Given the description of an element on the screen output the (x, y) to click on. 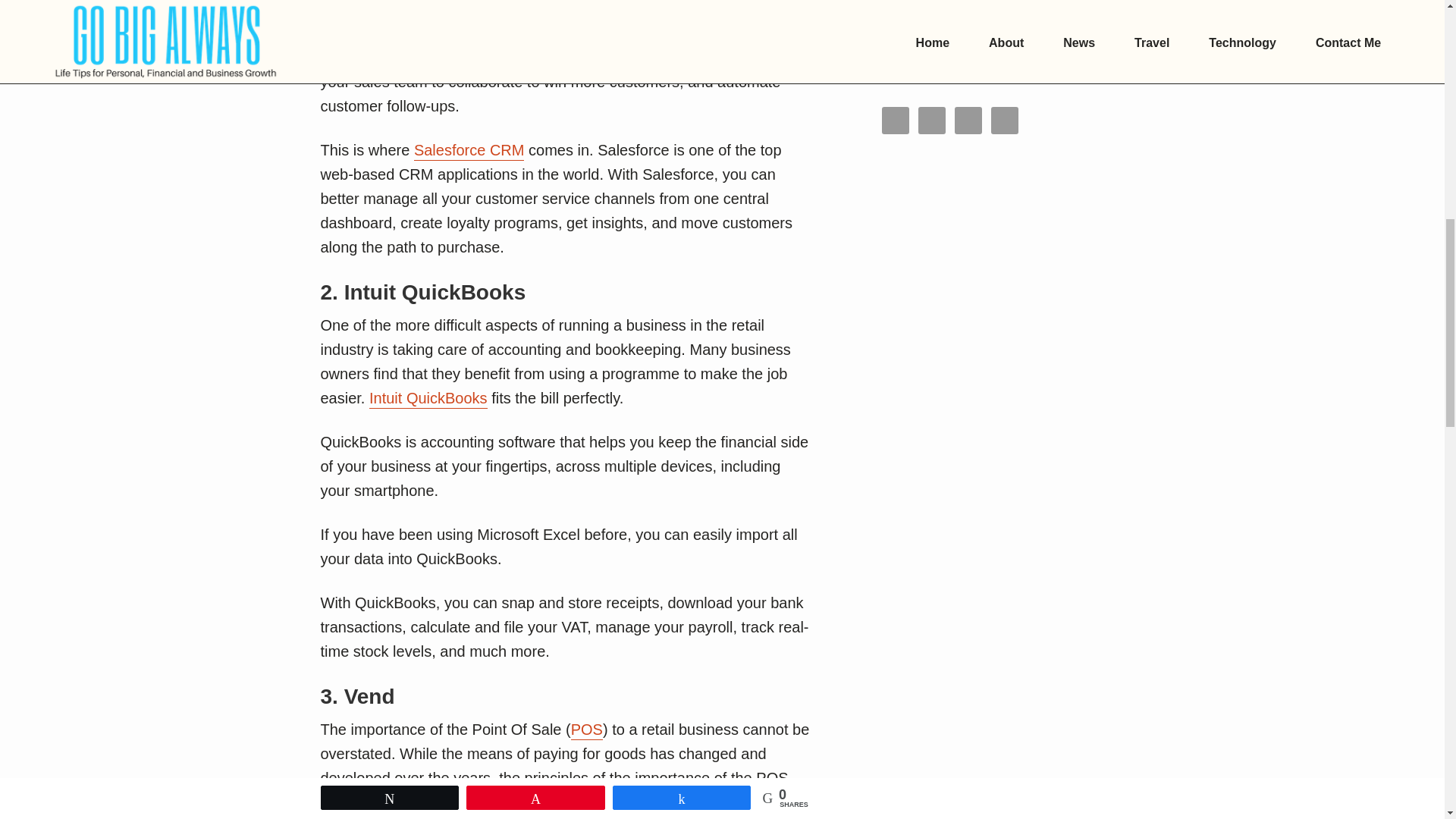
Salesforce CRM (468, 150)
Intuit QuickBooks (428, 398)
Customer Relationship Management (562, 9)
POS (586, 730)
